Given the description of an element on the screen output the (x, y) to click on. 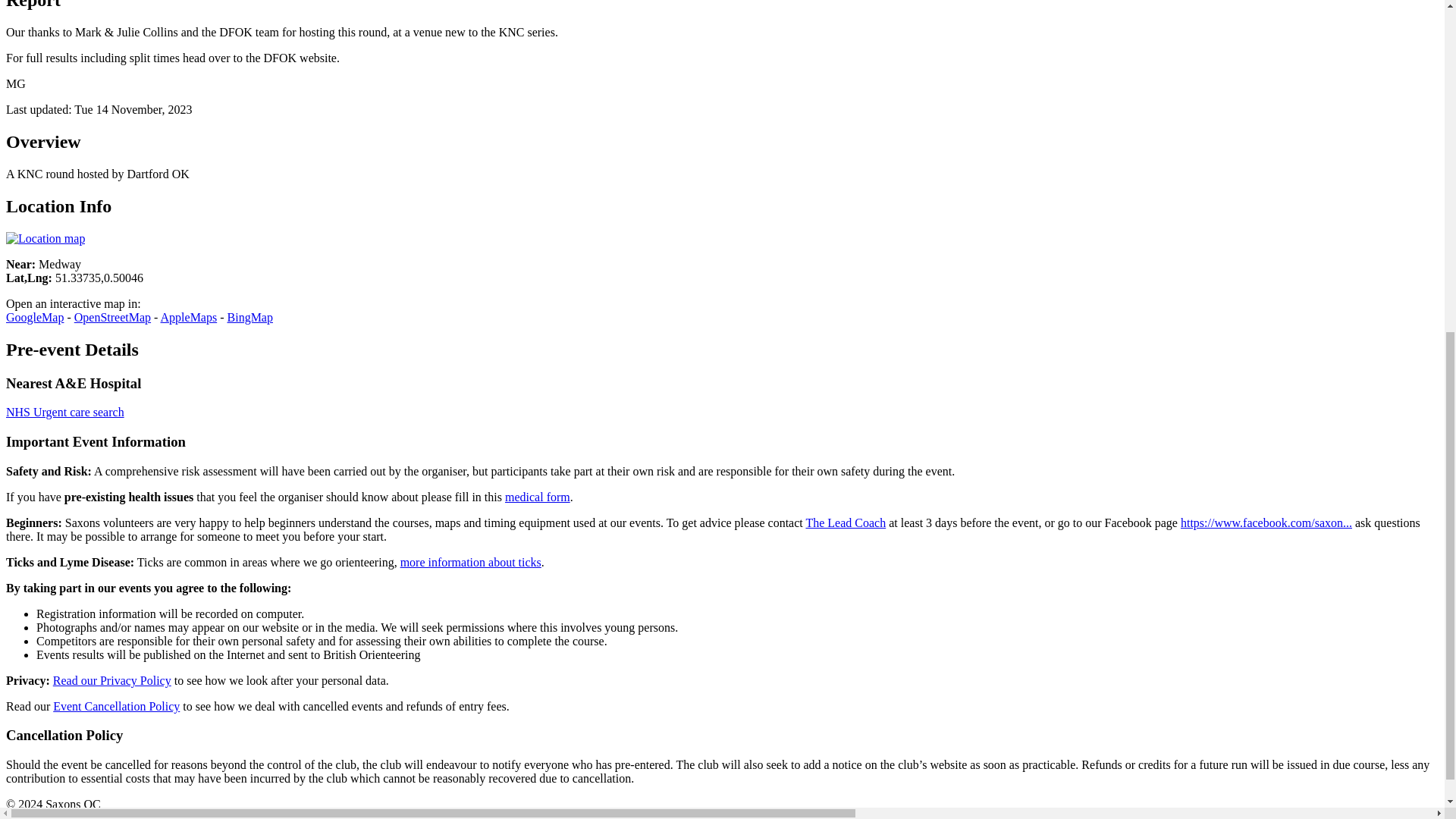
Event Cancellation Policy (115, 706)
OpenStreetMap (112, 317)
medical form (537, 496)
Opens in a new tab (250, 317)
AppleMaps (188, 317)
Opens in a new tab (188, 317)
Opens in a new tab (112, 317)
BingMap (250, 317)
GoogleMap (34, 317)
Read our Privacy Policy (111, 680)
Opens interactive map in a new tab (44, 237)
Opens in a new tab (34, 317)
The Lead Coach (845, 522)
NHS Urgent care search (64, 411)
more information about ticks (470, 562)
